Given the description of an element on the screen output the (x, y) to click on. 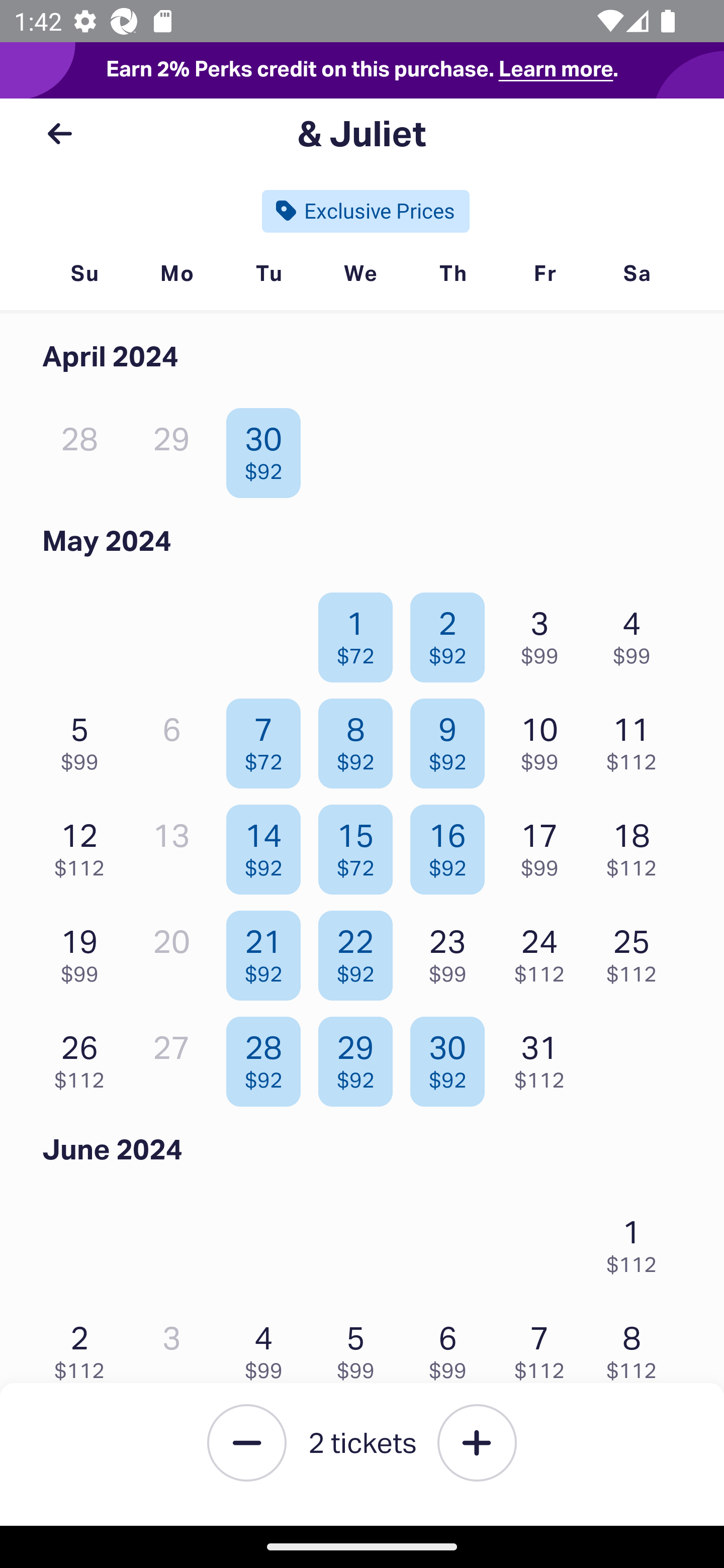
Earn 2% Perks credit on this purchase. Learn more. (362, 70)
back button (59, 133)
Exclusive Prices (365, 210)
30 $92 (268, 448)
1 $72 (360, 632)
2 $92 (452, 632)
3 $99 (544, 632)
4 $99 (636, 632)
5 $99 (84, 738)
7 $72 (268, 738)
8 $92 (360, 738)
9 $92 (452, 738)
10 $99 (544, 738)
11 $112 (636, 738)
12 $112 (84, 844)
14 $92 (268, 844)
15 $72 (360, 844)
16 $92 (452, 844)
17 $99 (544, 844)
18 $112 (636, 844)
19 $99 (84, 950)
21 $92 (268, 950)
22 $92 (360, 950)
23 $99 (452, 950)
24 $112 (544, 950)
25 $112 (636, 950)
26 $112 (84, 1057)
28 $92 (268, 1057)
29 $92 (360, 1057)
30 $92 (452, 1057)
31 $112 (544, 1057)
1 $112 (636, 1240)
2 $112 (84, 1347)
4 $99 (268, 1347)
5 $99 (360, 1347)
6 $99 (452, 1347)
7 $112 (544, 1347)
8 $112 (636, 1347)
